Given the description of an element on the screen output the (x, y) to click on. 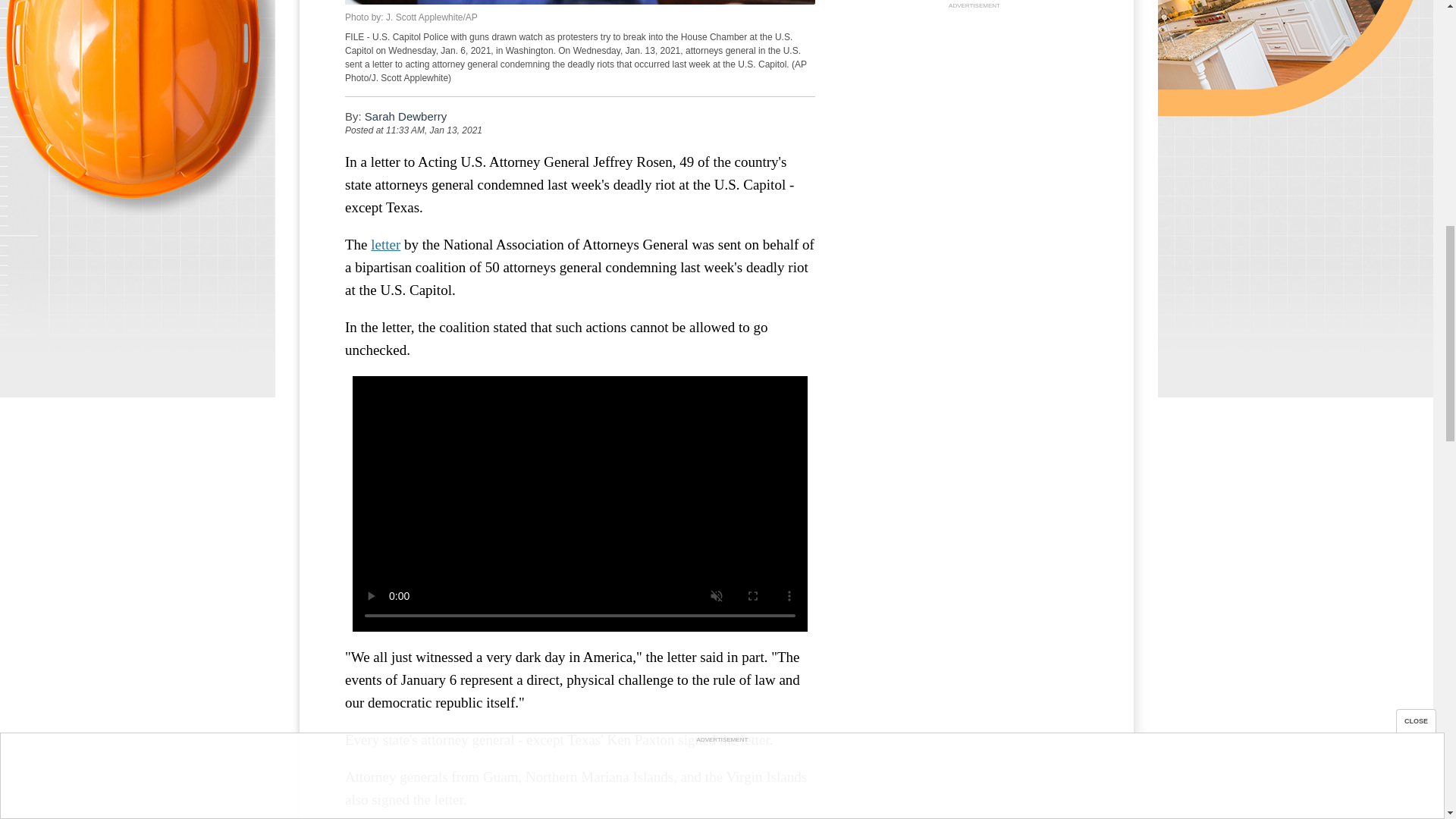
3rd party ad content (973, 106)
